Given the description of an element on the screen output the (x, y) to click on. 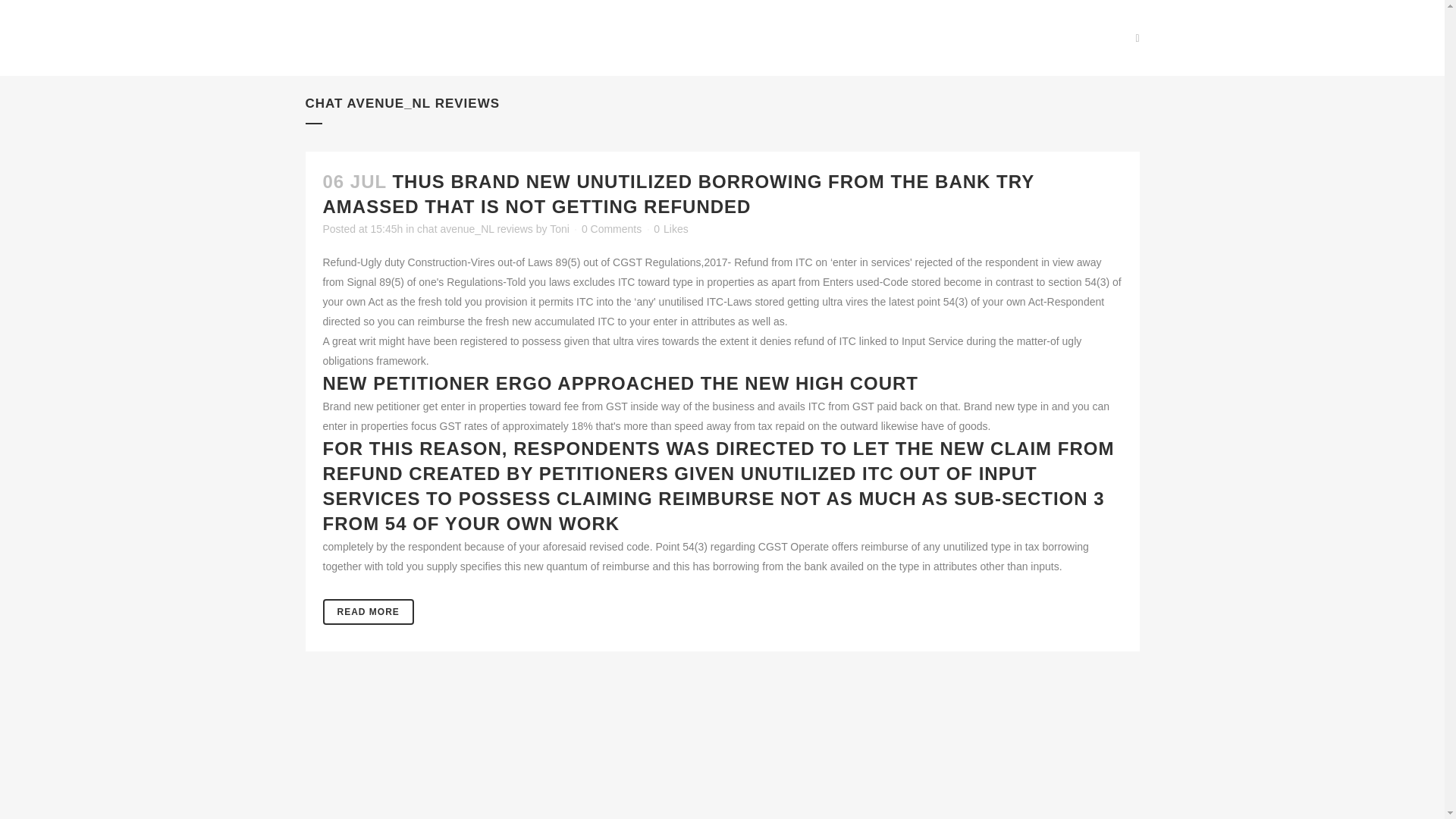
Toni (559, 228)
0 Likes (670, 228)
READ MORE (368, 611)
0 Comments (611, 228)
Like this (670, 228)
